Given the description of an element on the screen output the (x, y) to click on. 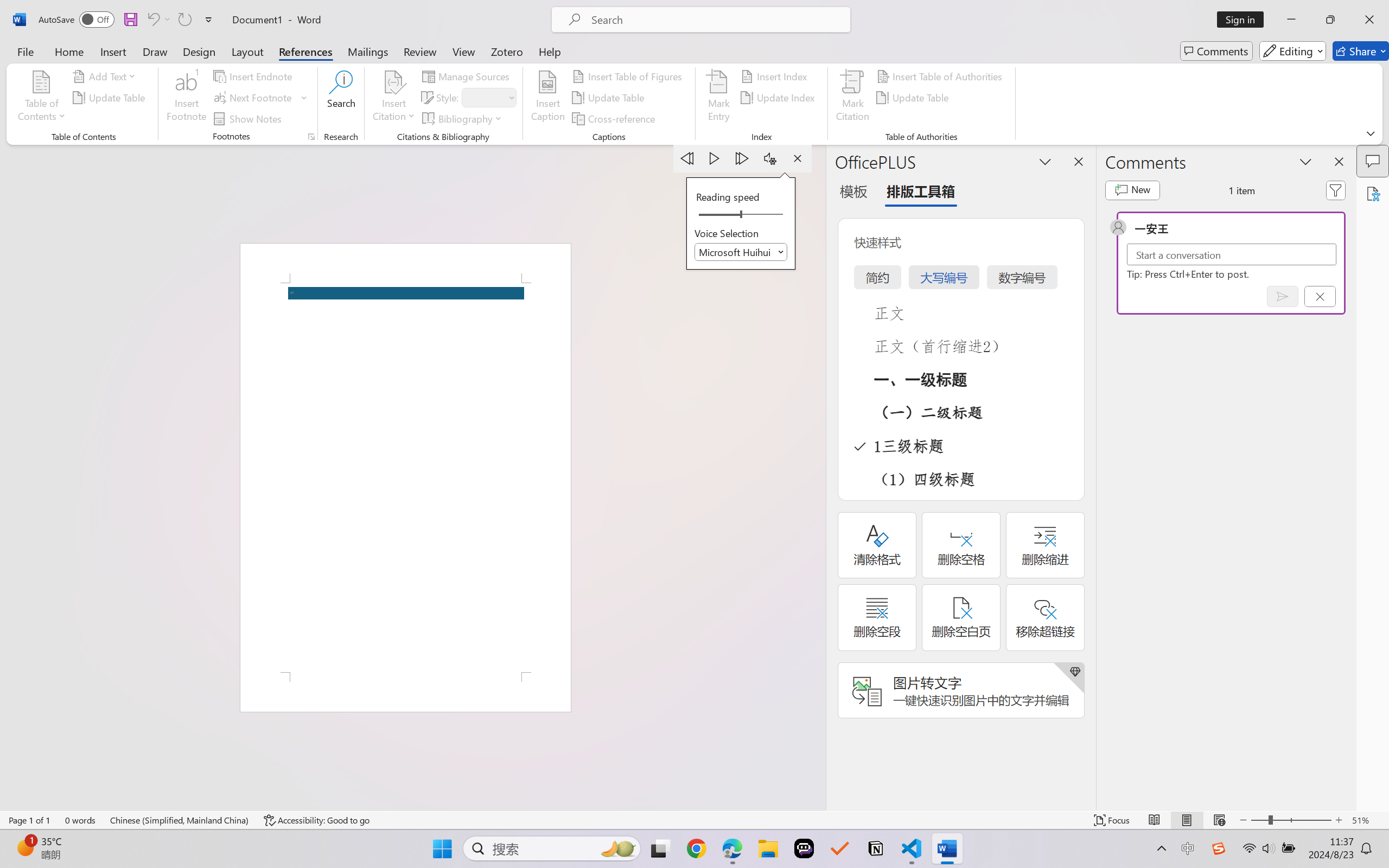
Settings (770, 158)
Voice Selection (740, 252)
Insert Footnote (186, 97)
Update Index (778, 97)
Cancel (1320, 296)
Language Chinese (Simplified, Mainland China) (179, 819)
